Given the description of an element on the screen output the (x, y) to click on. 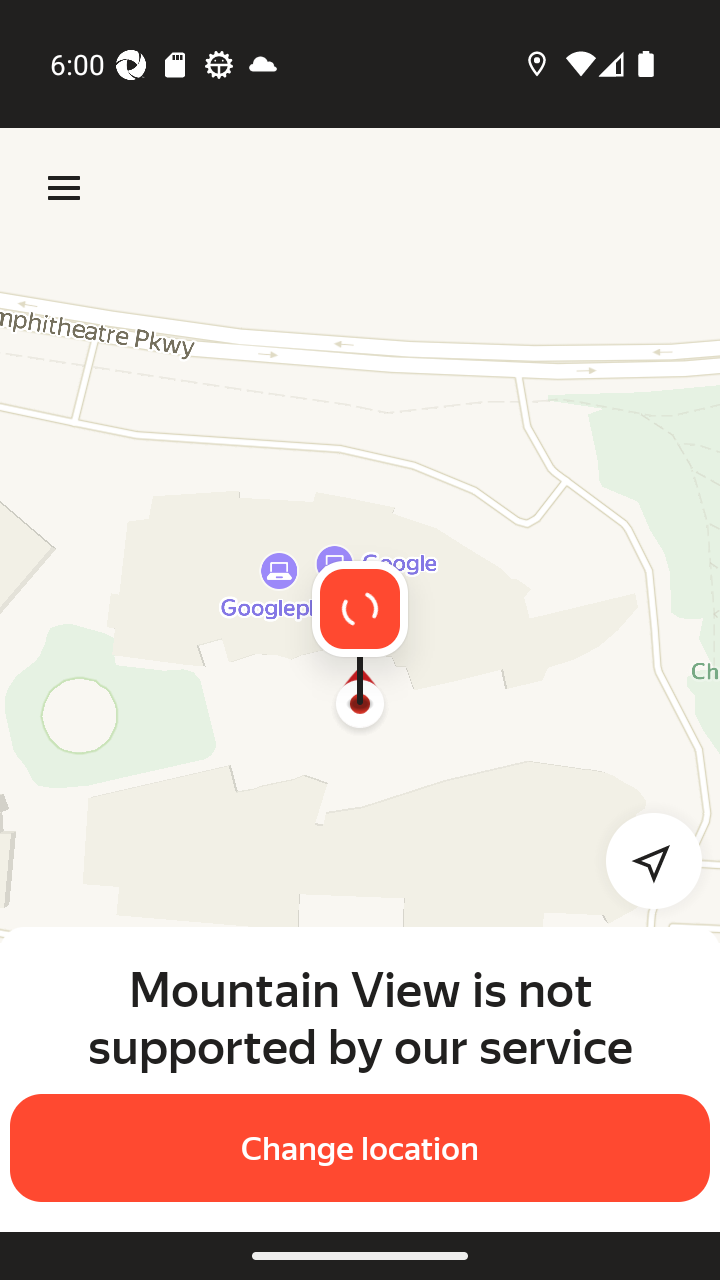
Menu Menu Menu (64, 188)
Detect my location (641, 860)
Mountain View is not supported by our service (360, 1017)
Change location (359, 1147)
